Given the description of an element on the screen output the (x, y) to click on. 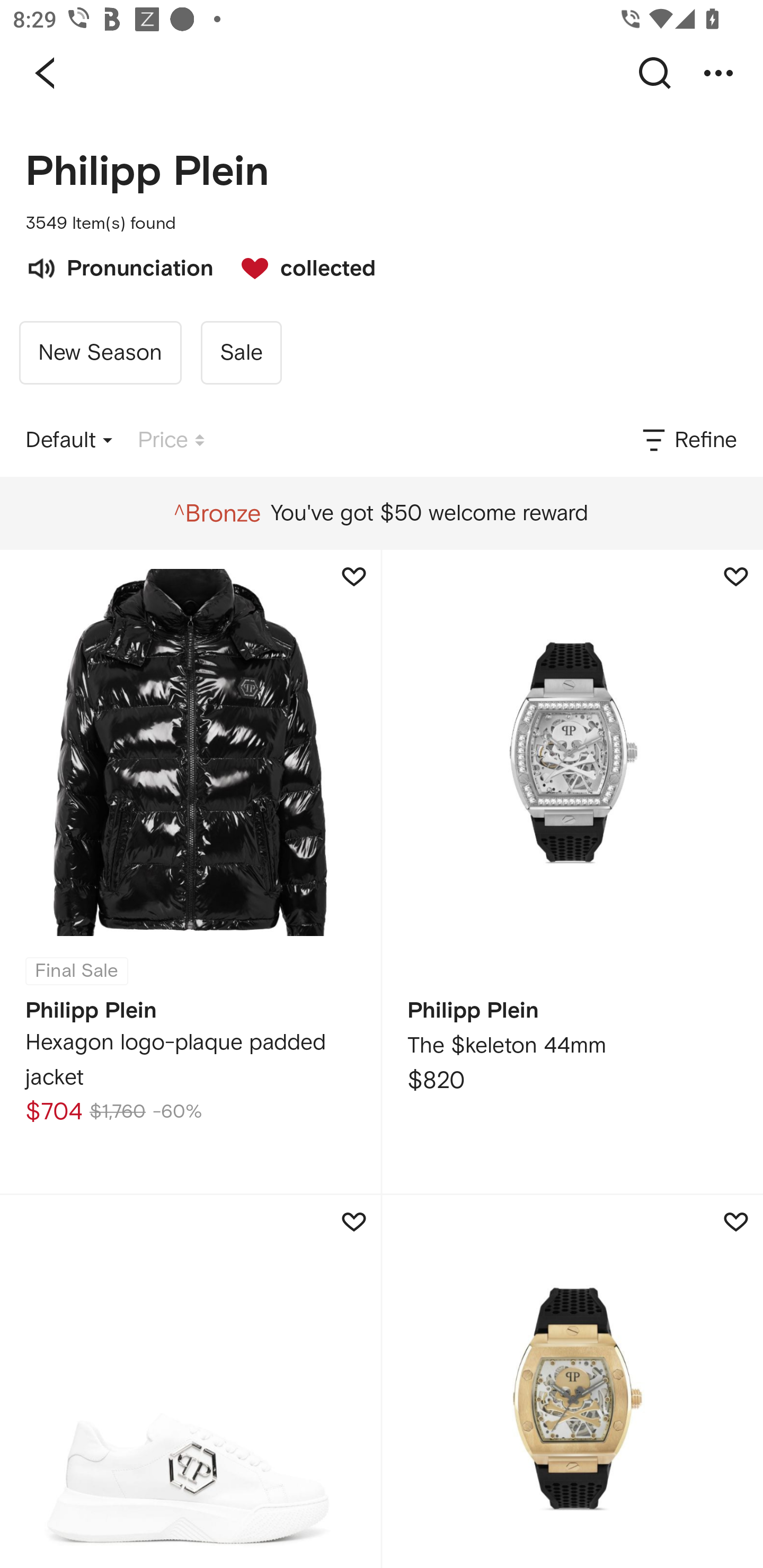
Pronunciation (119, 266)
collected (298, 266)
New Season (100, 352)
Sale (240, 352)
Default (68, 440)
Price (171, 440)
Refine (688, 440)
You've got $50 welcome reward (381, 513)
Philipp Plein The $keleton 44mm $820 (572, 871)
